Given the description of an element on the screen output the (x, y) to click on. 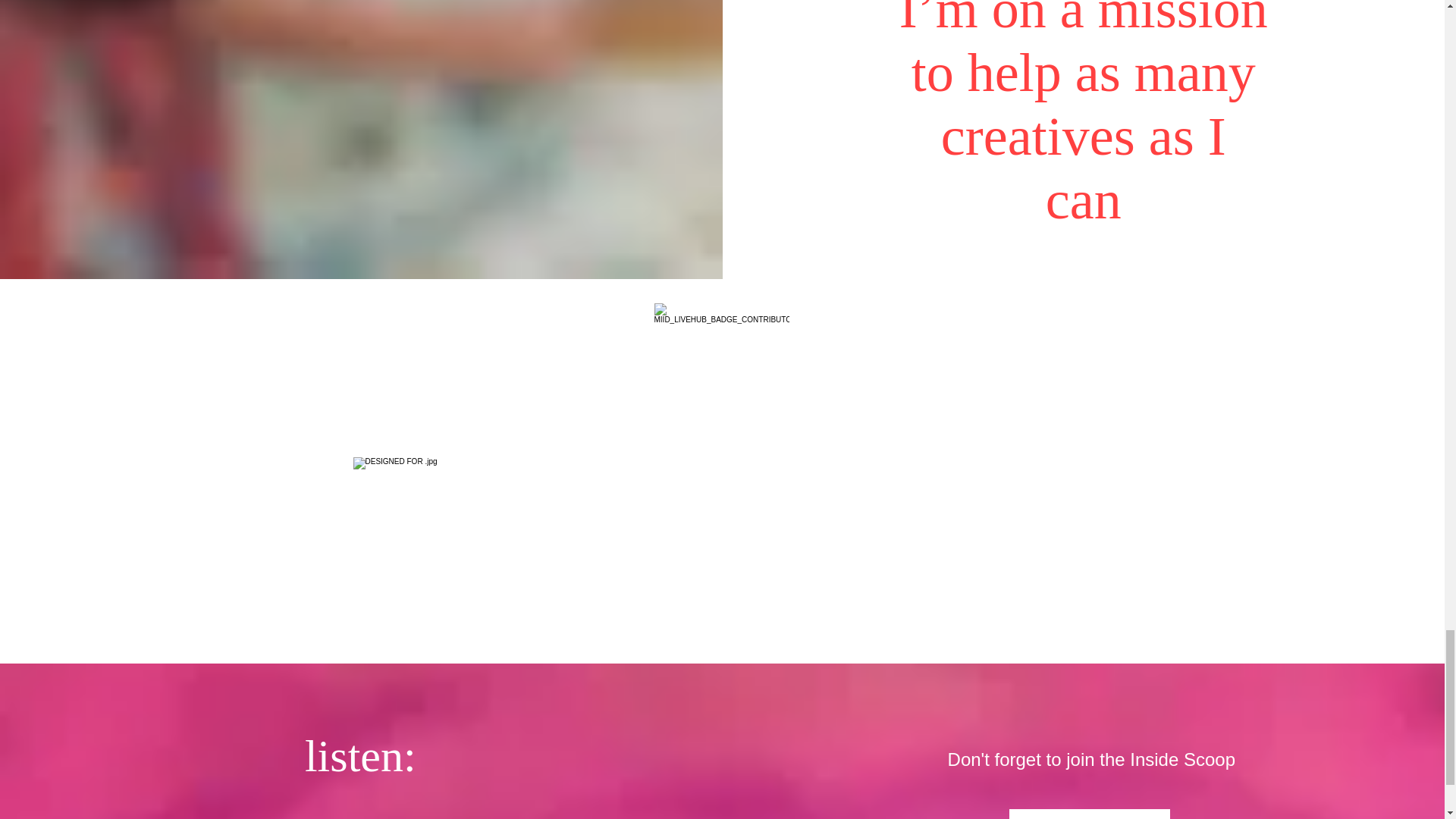
JOIN US (1089, 814)
